Given the description of an element on the screen output the (x, y) to click on. 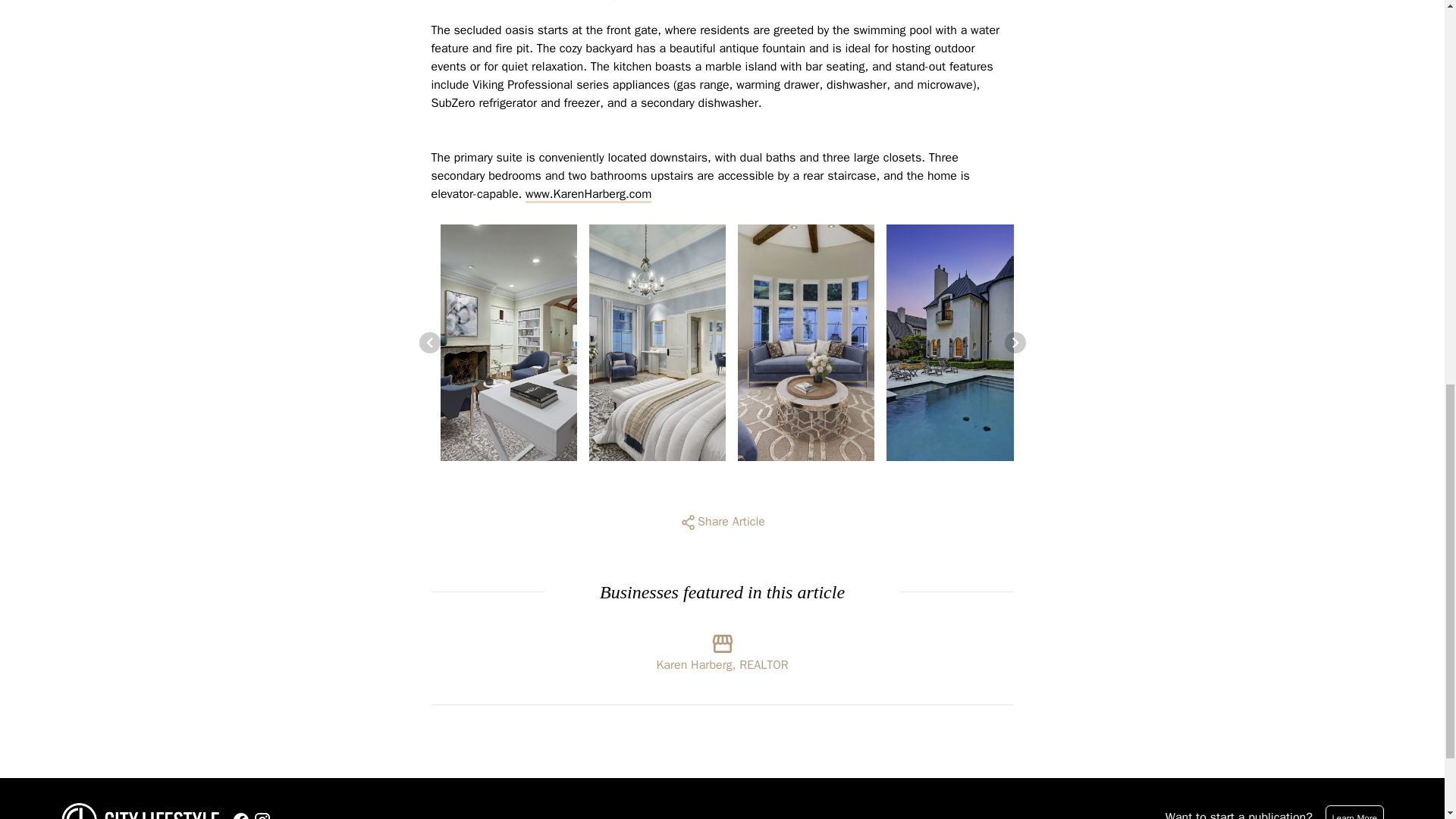
Share Article (722, 521)
Karen Harberg, REALTOR (721, 648)
Learn More (1354, 812)
www.KarenHarberg.com (587, 194)
